Given the description of an element on the screen output the (x, y) to click on. 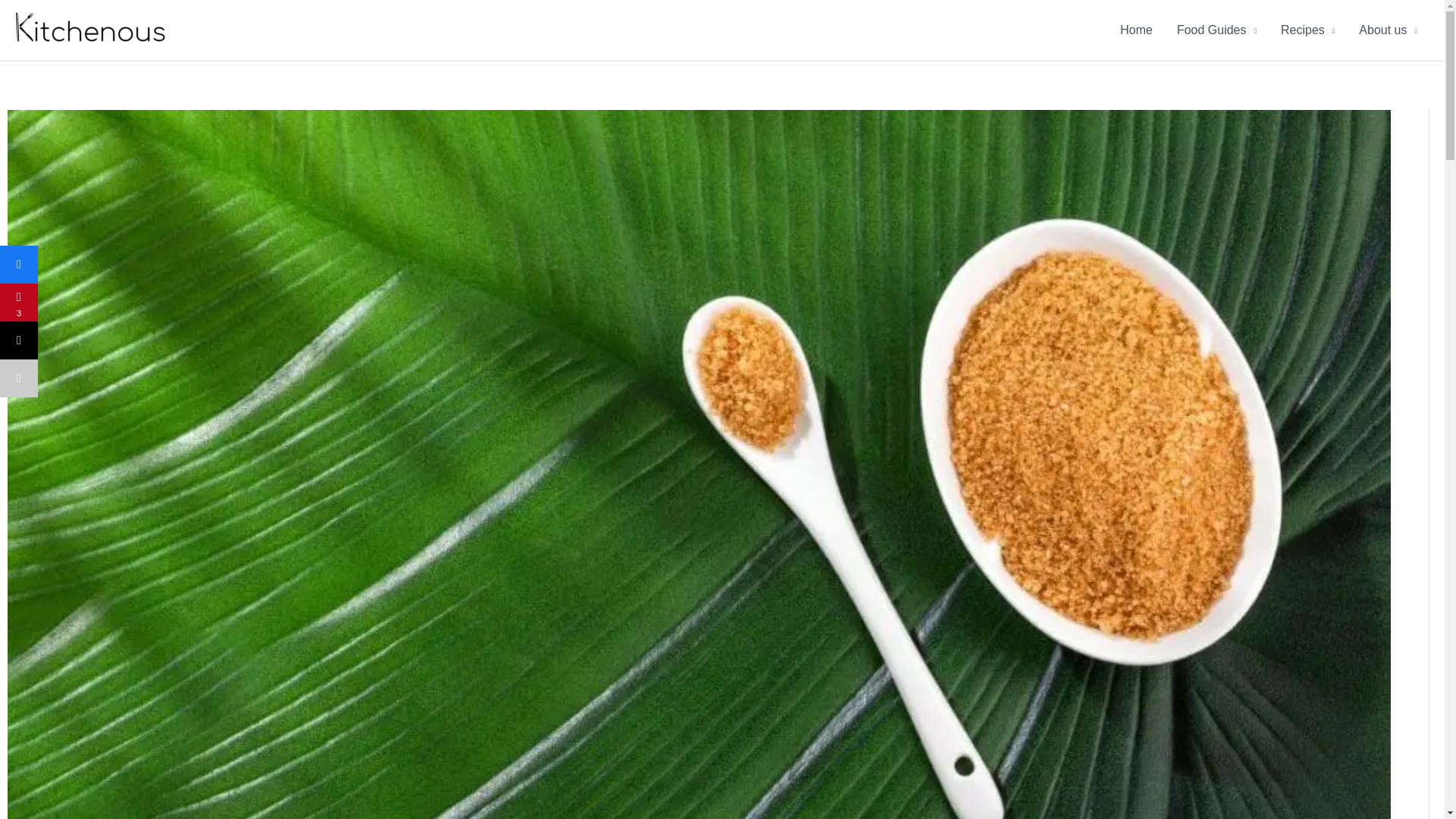
About us (1387, 30)
Home (1136, 30)
Recipes (1307, 30)
Food Guides (1216, 30)
